Given the description of an element on the screen output the (x, y) to click on. 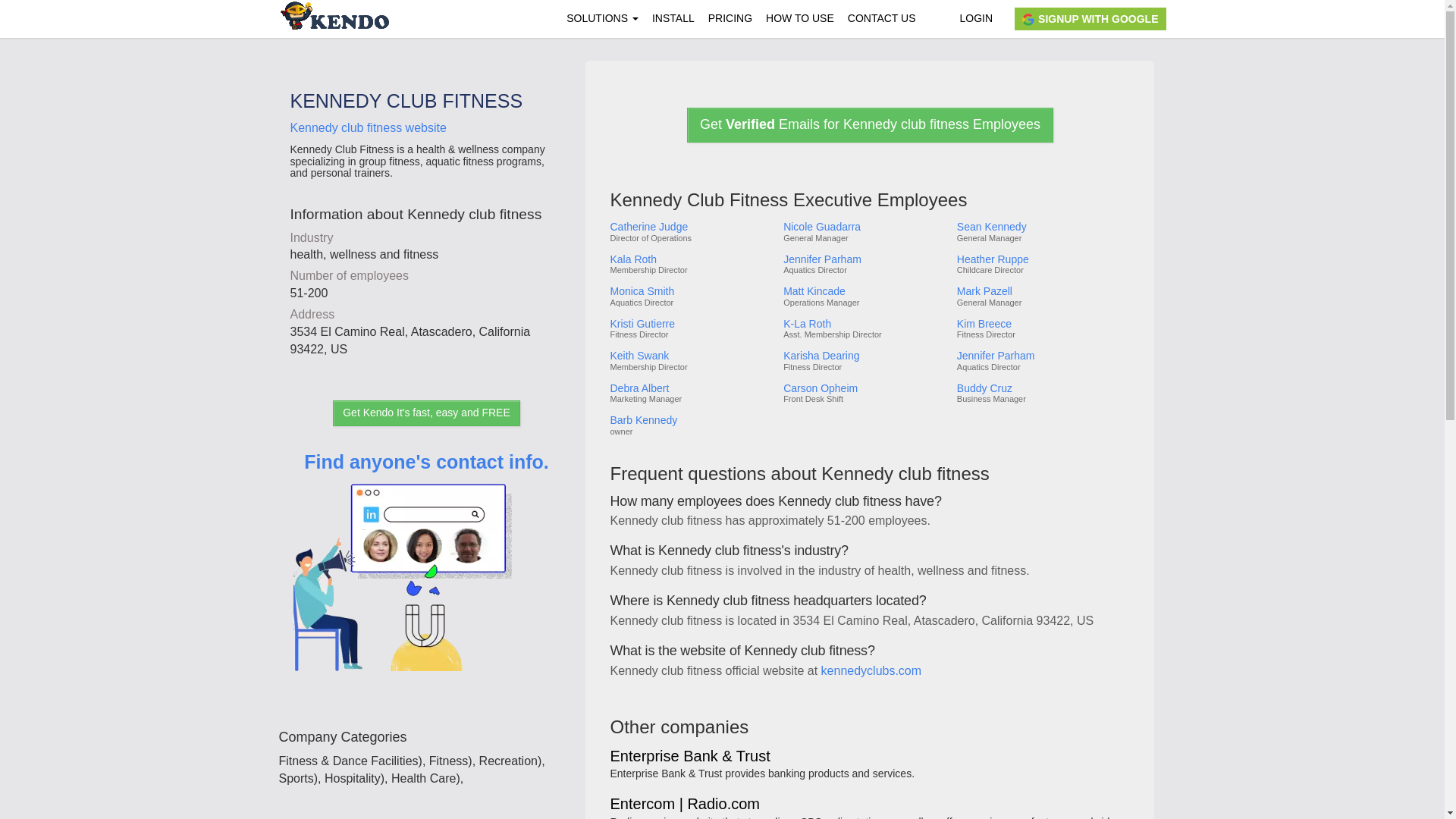
Get Kendo It's fast, easy and FREE (426, 412)
Buddy Cruz (1041, 388)
HOW TO USE (799, 18)
Heather Ruppe (1041, 259)
Matt Kincade (863, 291)
CONTACT US (882, 18)
Catherine Judge (690, 226)
Jennifer Parham (1041, 355)
Carson Opheim (863, 388)
K-La Roth (863, 324)
Kennedy club fitness website (367, 127)
PRICING (729, 18)
Find anyone's contact info. (425, 582)
LOGIN (975, 18)
Get Verified Emails for Kennedy club fitness Employees (869, 124)
